Given the description of an element on the screen output the (x, y) to click on. 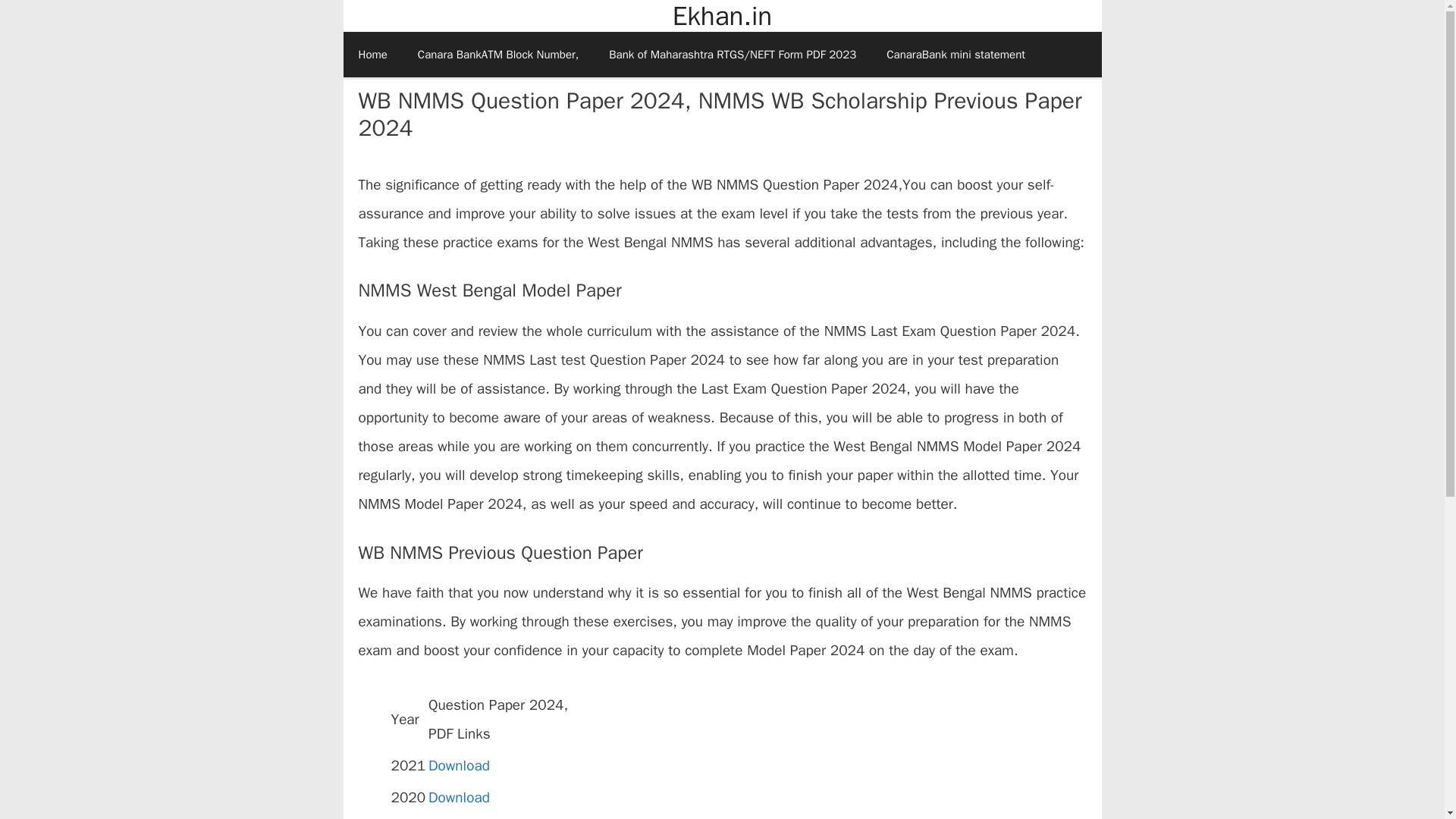
Download (458, 765)
Canara BankATM Block Number, (498, 53)
Home (371, 53)
CanaraBank mini statement (955, 53)
Download (458, 797)
Ekhan.in (721, 16)
